Given the description of an element on the screen output the (x, y) to click on. 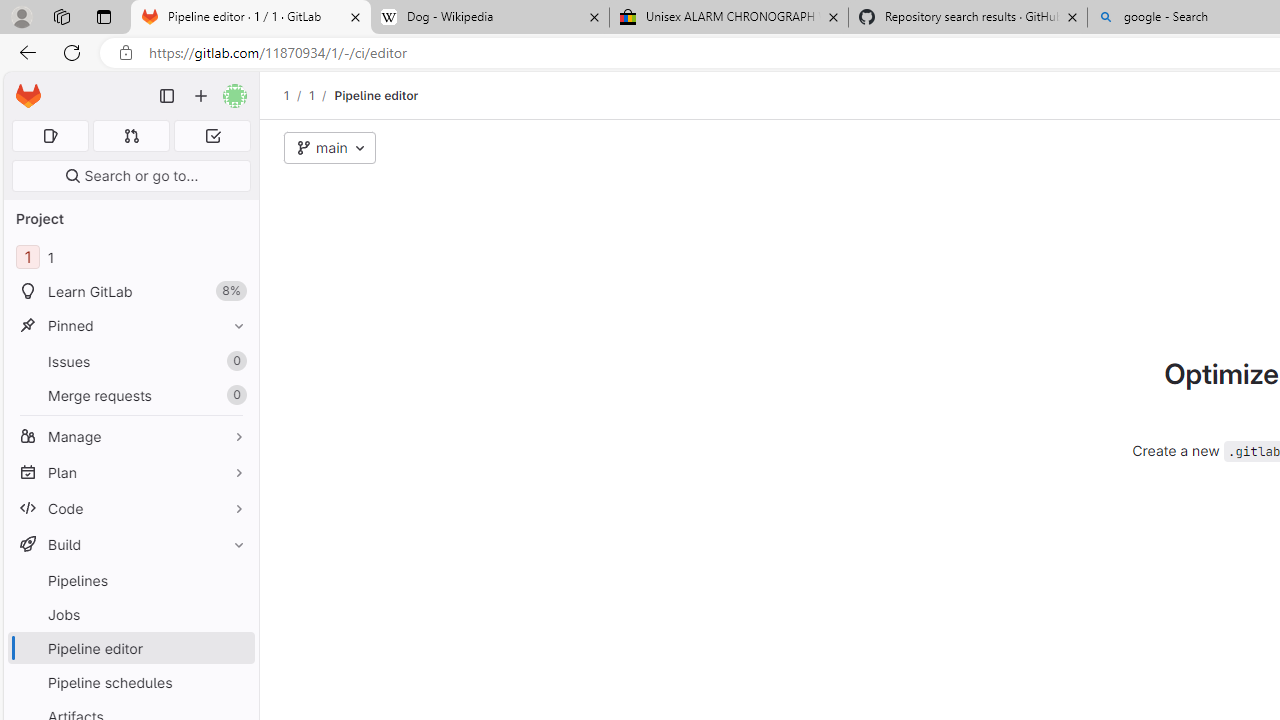
Pin Jobs (234, 614)
Pipeline schedules (130, 682)
11 (130, 257)
Pin Pipelines (234, 580)
Merge requests 0 (130, 394)
Merge requests0 (130, 394)
Learn GitLab 8% (130, 291)
Merge requests 0 (131, 136)
Code (130, 507)
